Given the description of an element on the screen output the (x, y) to click on. 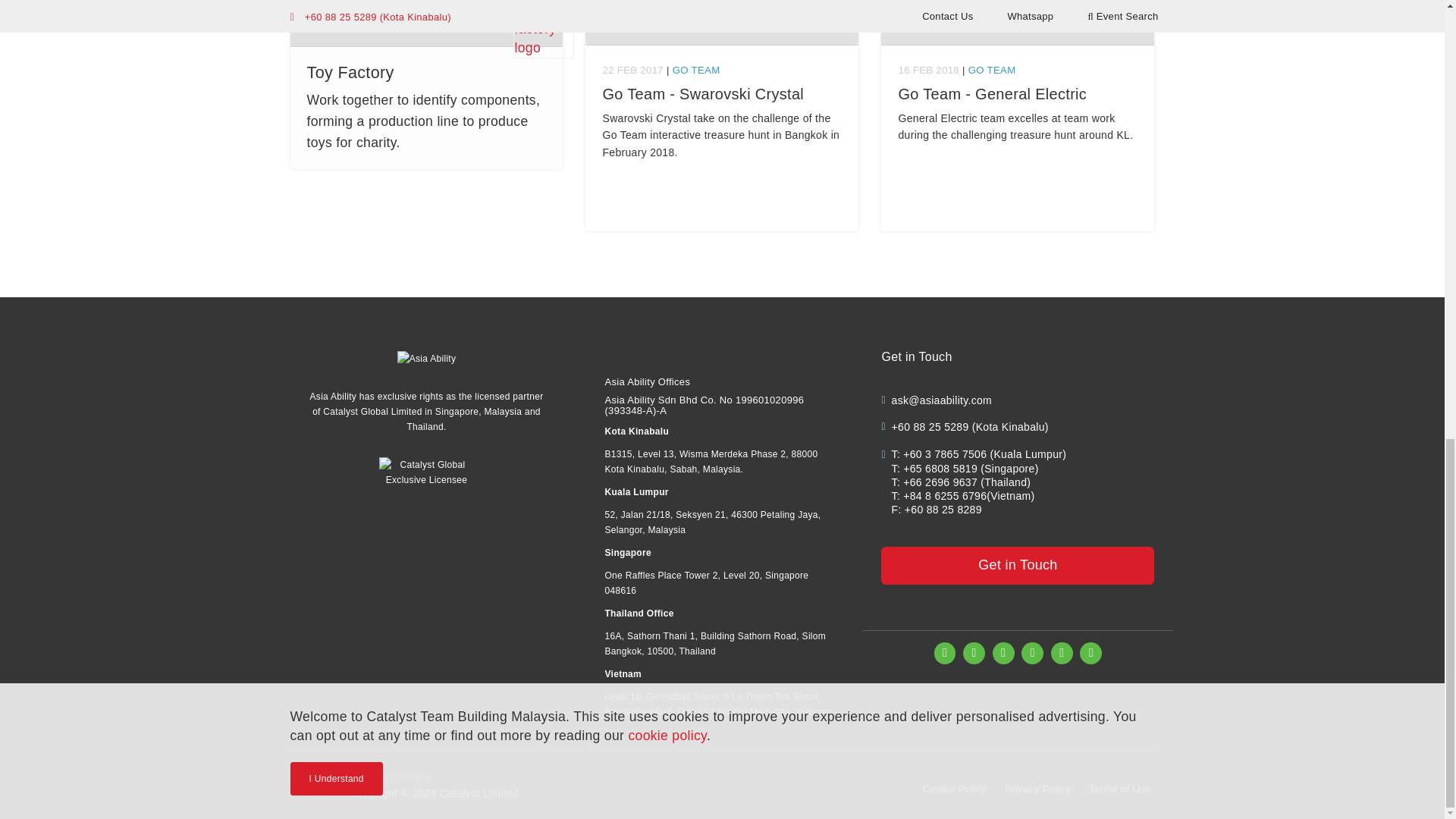
Watch us on Youtube (1091, 653)
Get in Touch (1017, 565)
Follow us on Twitter (1032, 653)
Follow us on Instagram (973, 653)
Watch us on Vimeo (1062, 653)
Find us on Linkedin (1003, 653)
Find us on Facebook (945, 653)
Privacy Policy (1037, 788)
Terms of Use (1120, 788)
Cookie Policy (955, 788)
